Given the description of an element on the screen output the (x, y) to click on. 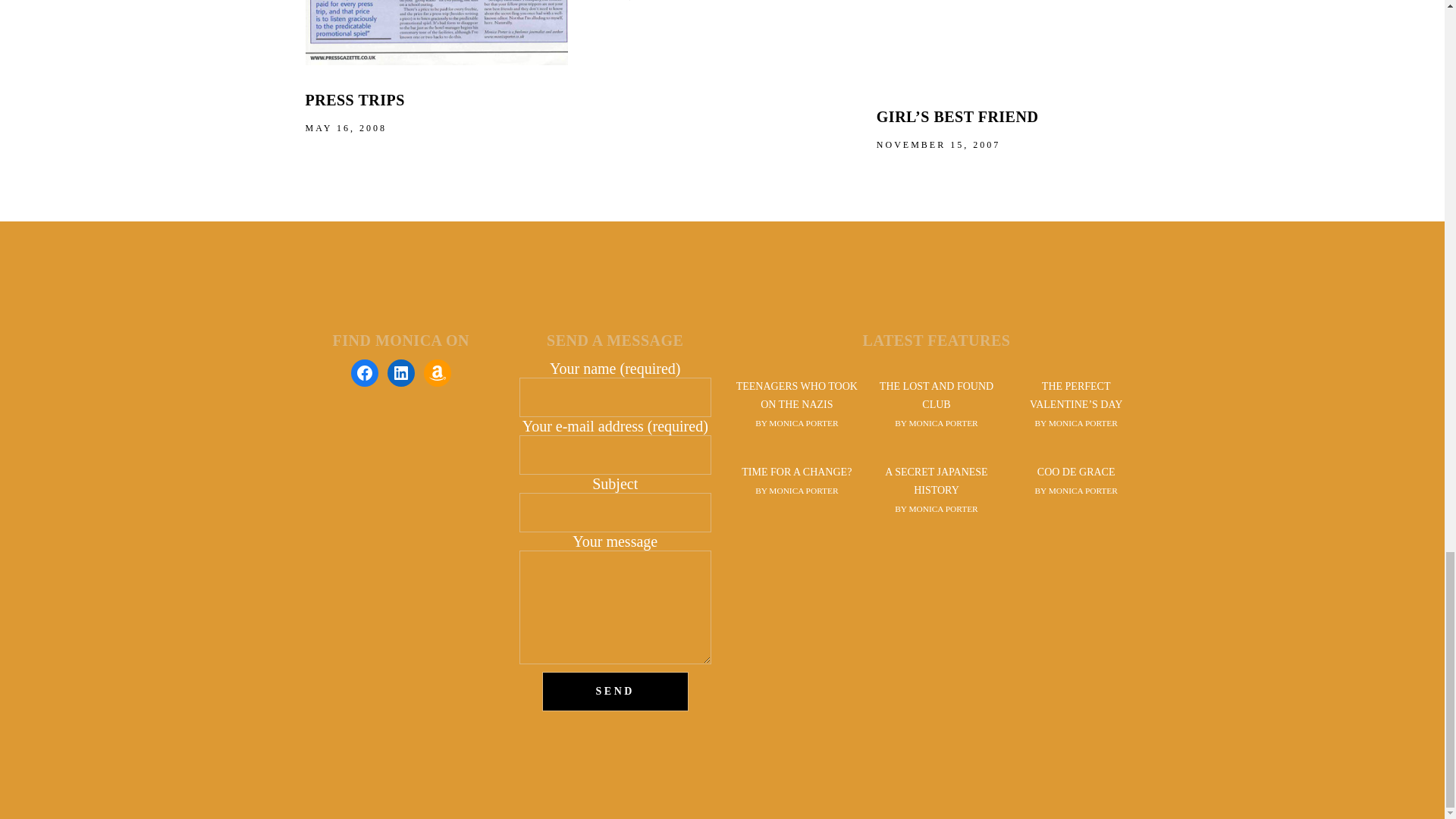
Press Trips (435, 32)
Send (614, 691)
Press Trips (354, 99)
